Given the description of an element on the screen output the (x, y) to click on. 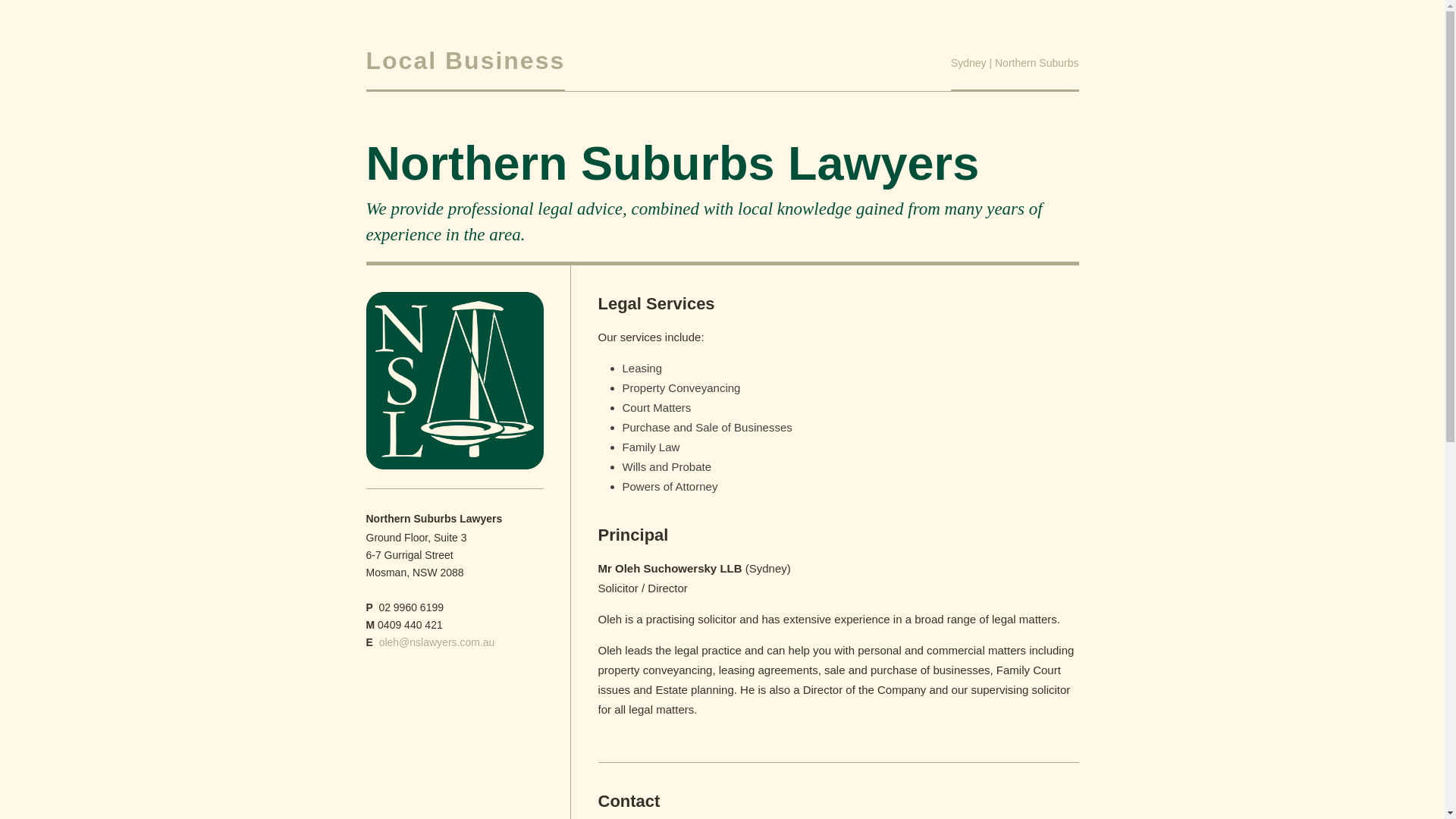
Sydney | Northern Suburbs Element type: text (1014, 68)
oleh@nslawyers.com.au Element type: text (437, 642)
Local Business Element type: text (464, 60)
